Given the description of an element on the screen output the (x, y) to click on. 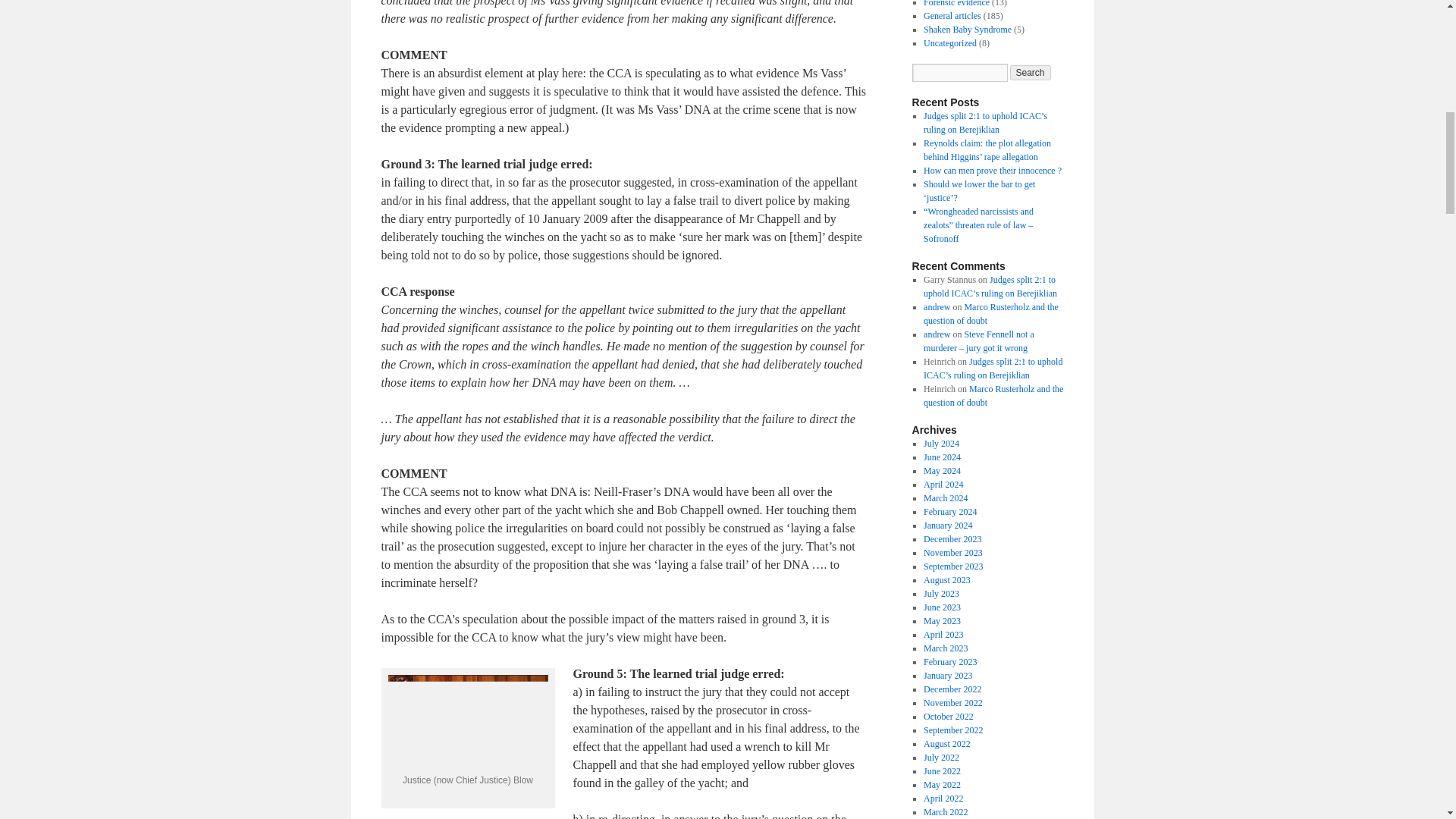
Search (1030, 72)
